Given the description of an element on the screen output the (x, y) to click on. 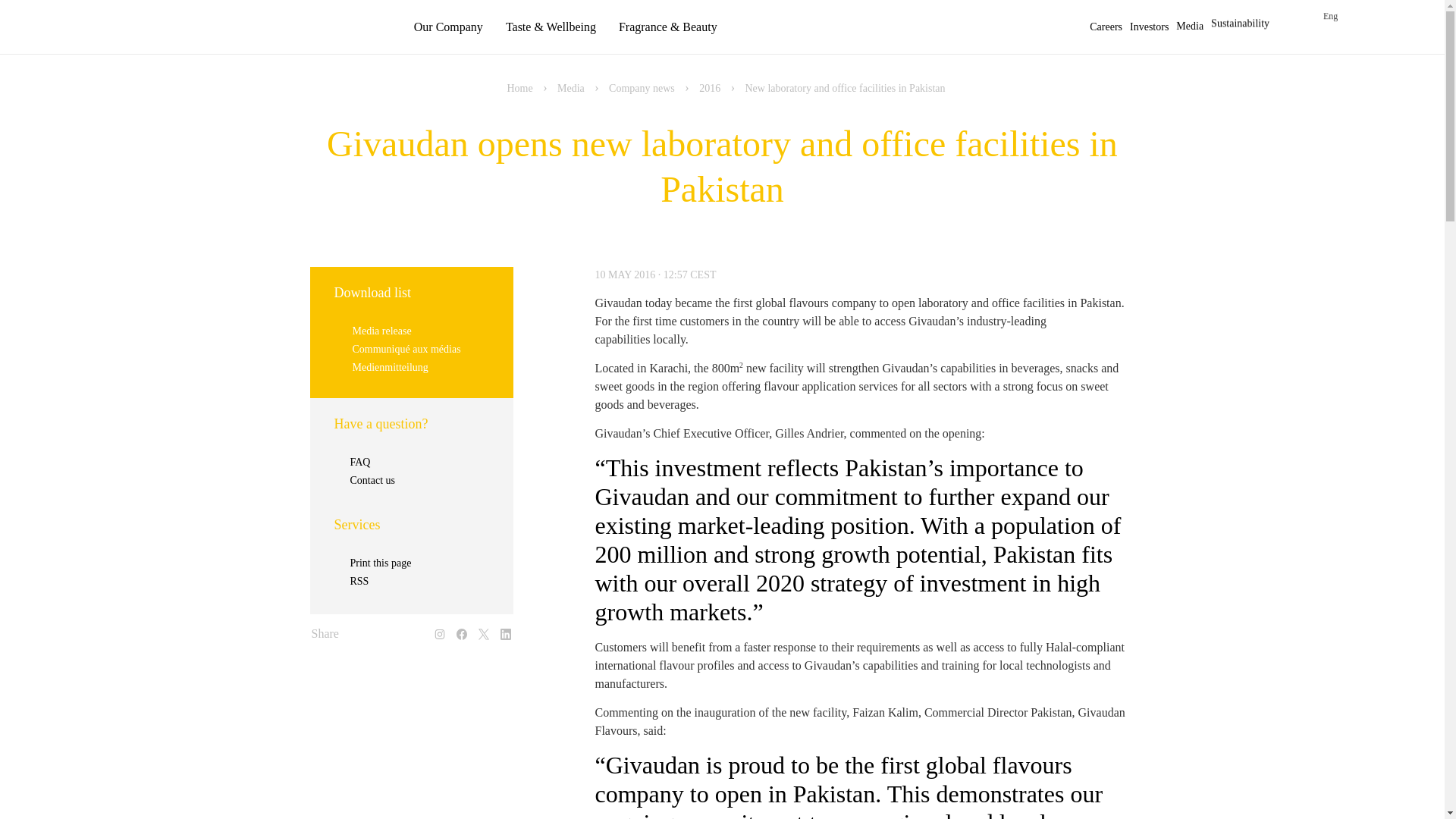
Instagram (439, 629)
Facebook (460, 629)
contact us (1379, 773)
Twitter (483, 629)
LinkedIn (505, 629)
